Given the description of an element on the screen output the (x, y) to click on. 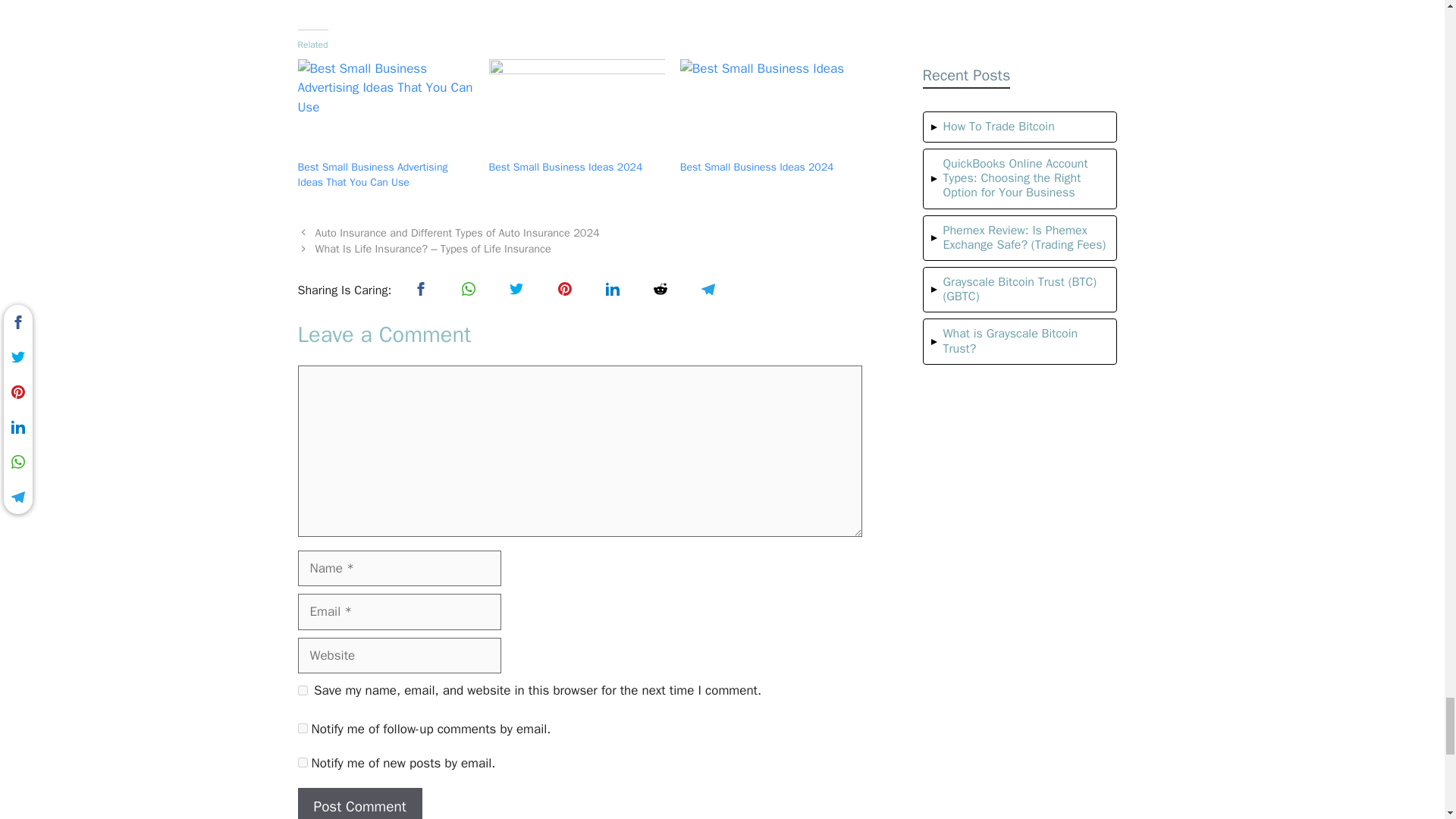
subscribe (302, 728)
yes (302, 690)
subscribe (302, 762)
Post Comment (359, 803)
